Given the description of an element on the screen output the (x, y) to click on. 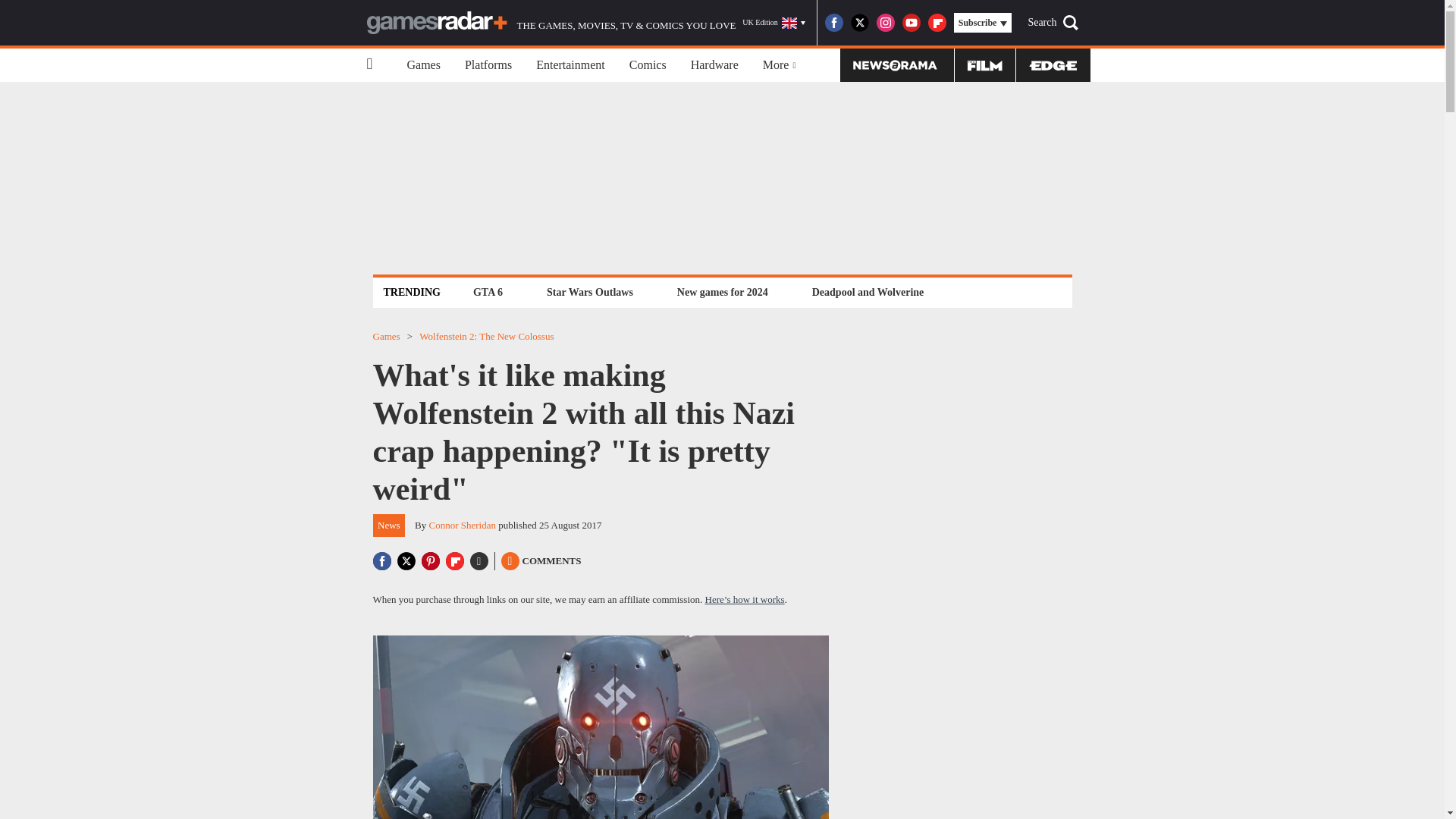
Games (422, 64)
Star Wars Outlaws (590, 292)
Comics (647, 64)
UK Edition (773, 22)
Entertainment (570, 64)
Platforms (488, 64)
New games for 2024 (722, 292)
Deadpool and Wolverine (868, 292)
Hardware (714, 64)
GTA 6 (487, 292)
